Given the description of an element on the screen output the (x, y) to click on. 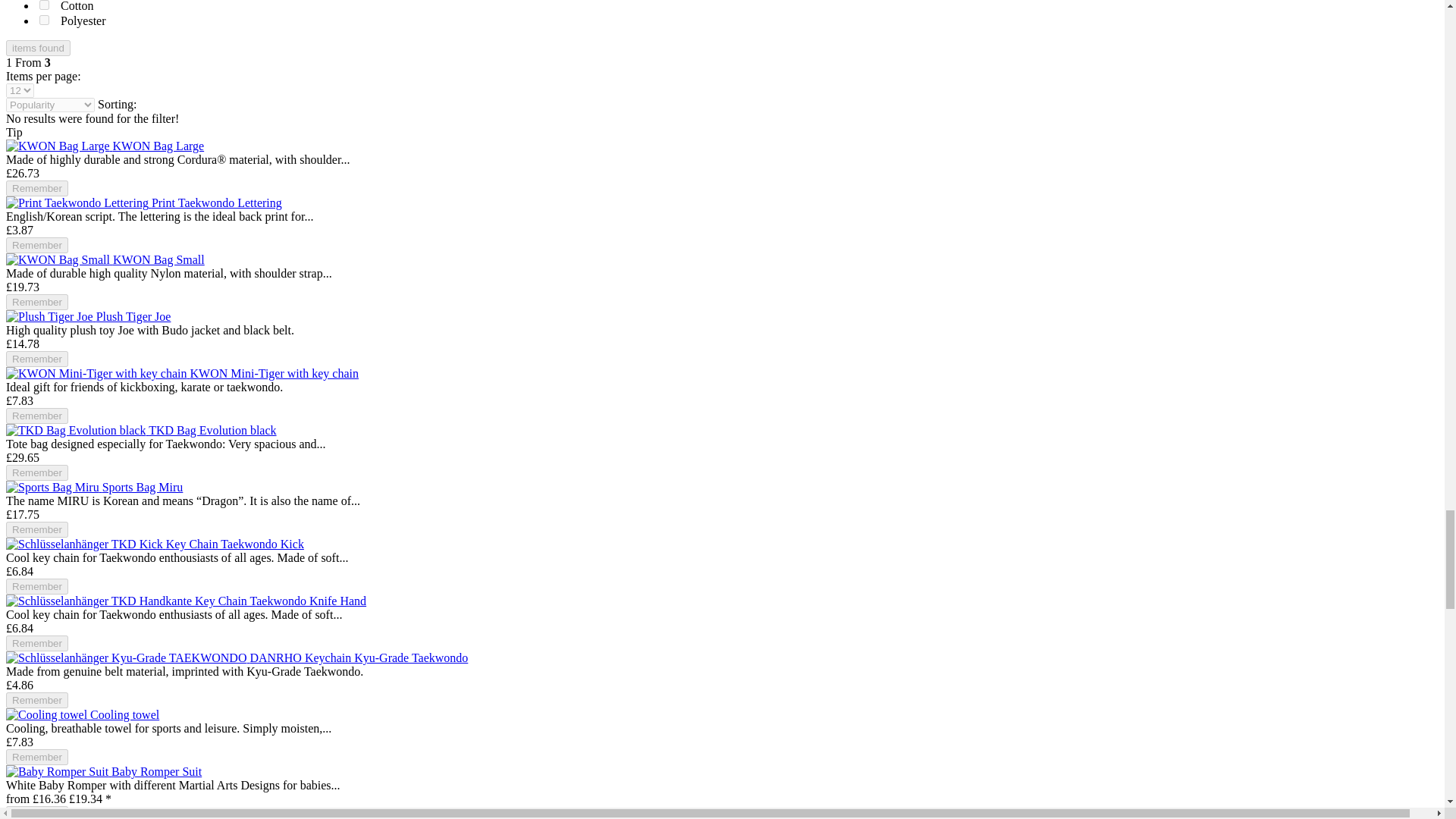
99 (44, 20)
100 (44, 4)
